Given the description of an element on the screen output the (x, y) to click on. 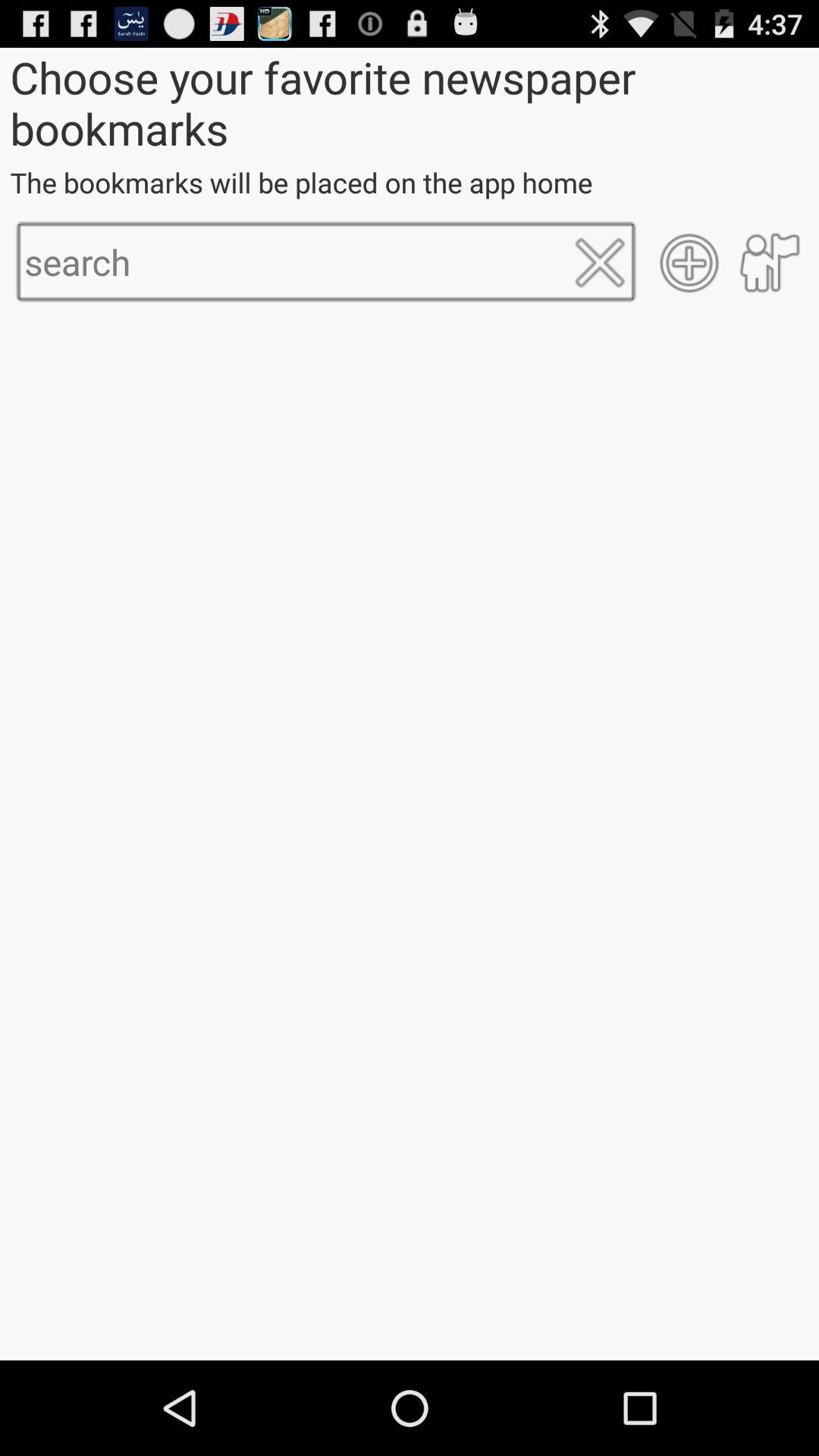
open the app below the bookmarks will (689, 262)
